Given the description of an element on the screen output the (x, y) to click on. 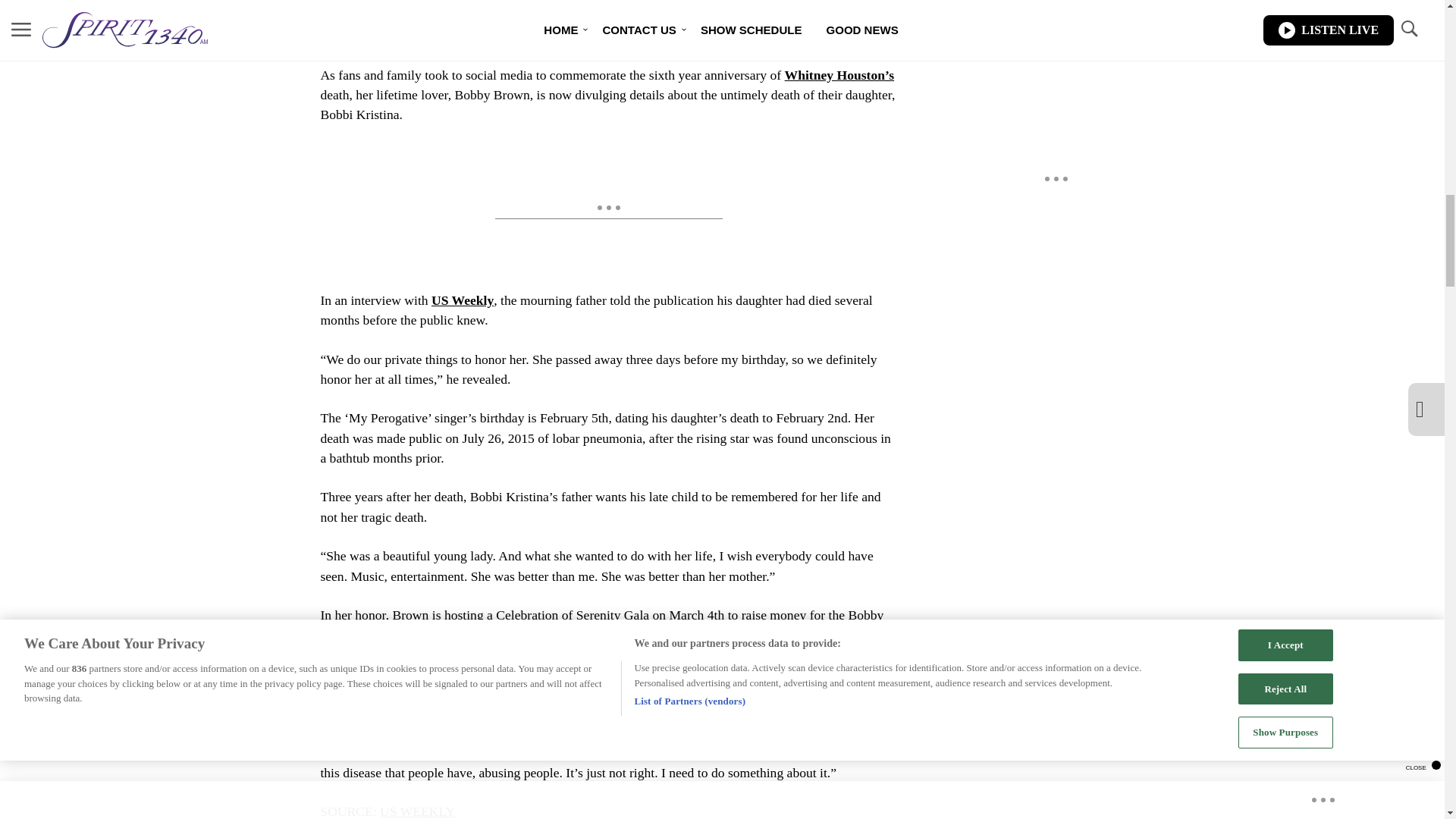
US Weekly (461, 299)
US WEEKLY (417, 811)
